Given the description of an element on the screen output the (x, y) to click on. 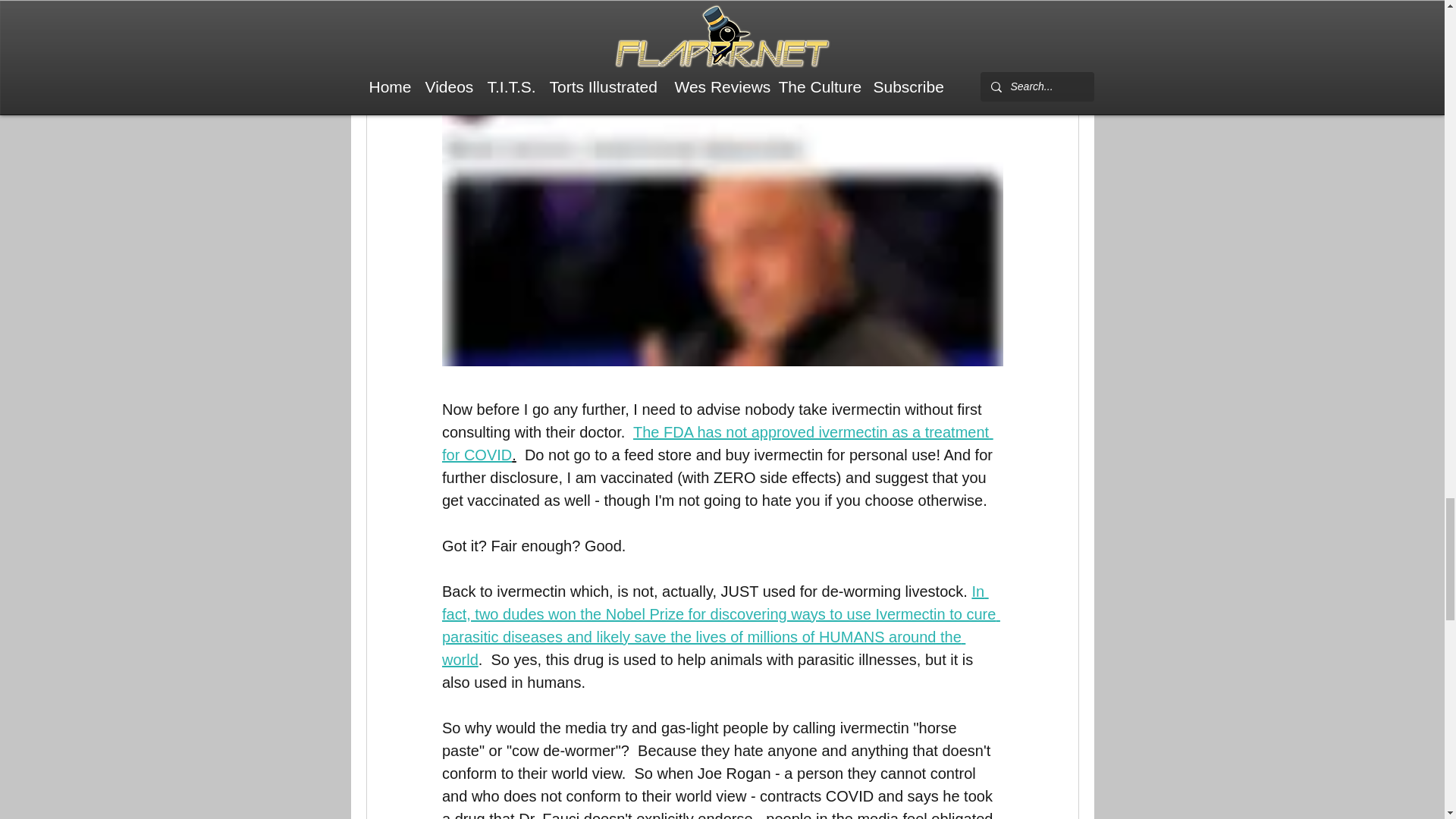
The FDA has not approved ivermectin as a treatment for COVID (716, 442)
